Given the description of an element on the screen output the (x, y) to click on. 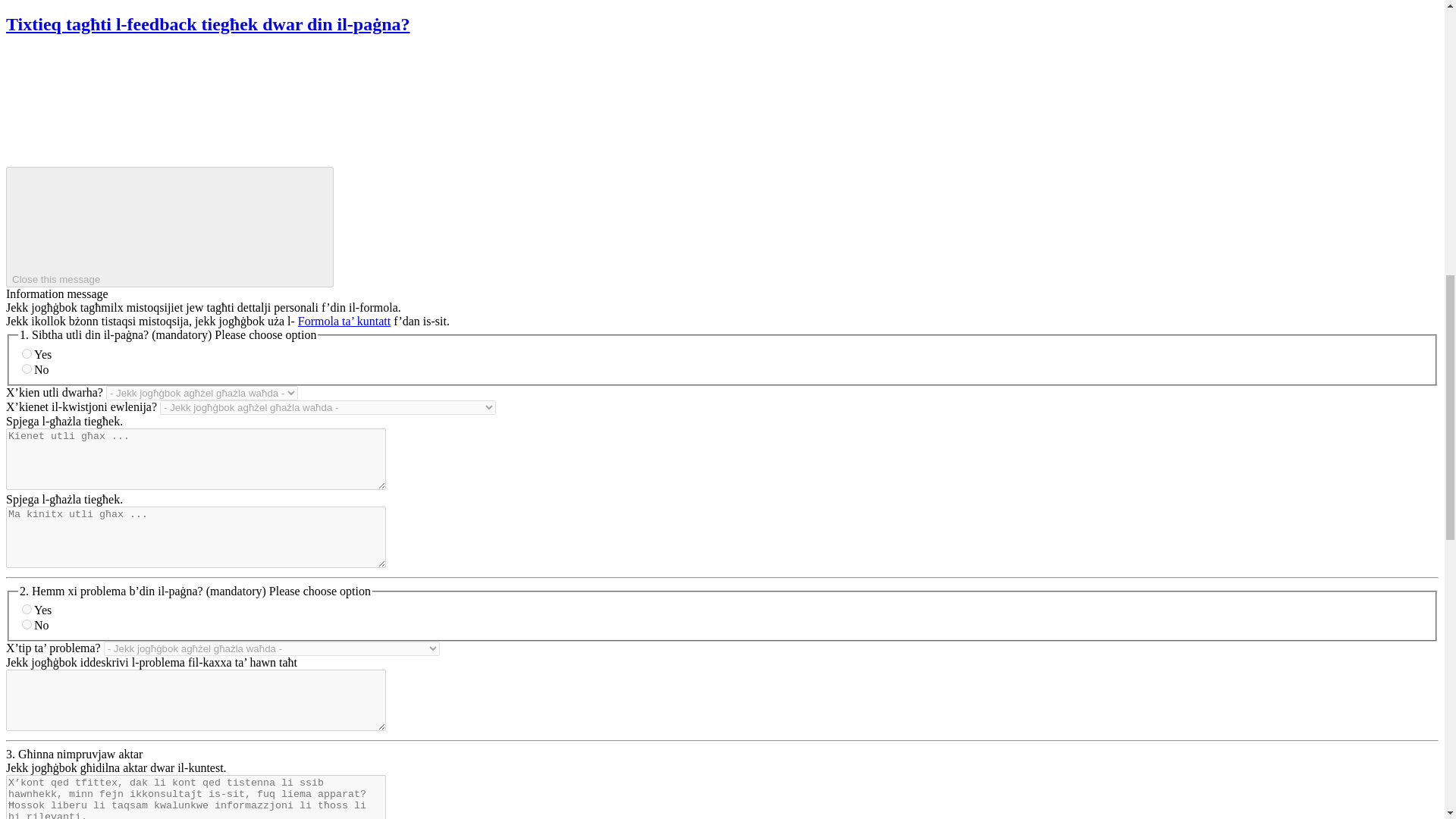
Yes (26, 353)
No (26, 624)
Close this message (169, 227)
No (26, 368)
Yes (26, 609)
